Given the description of an element on the screen output the (x, y) to click on. 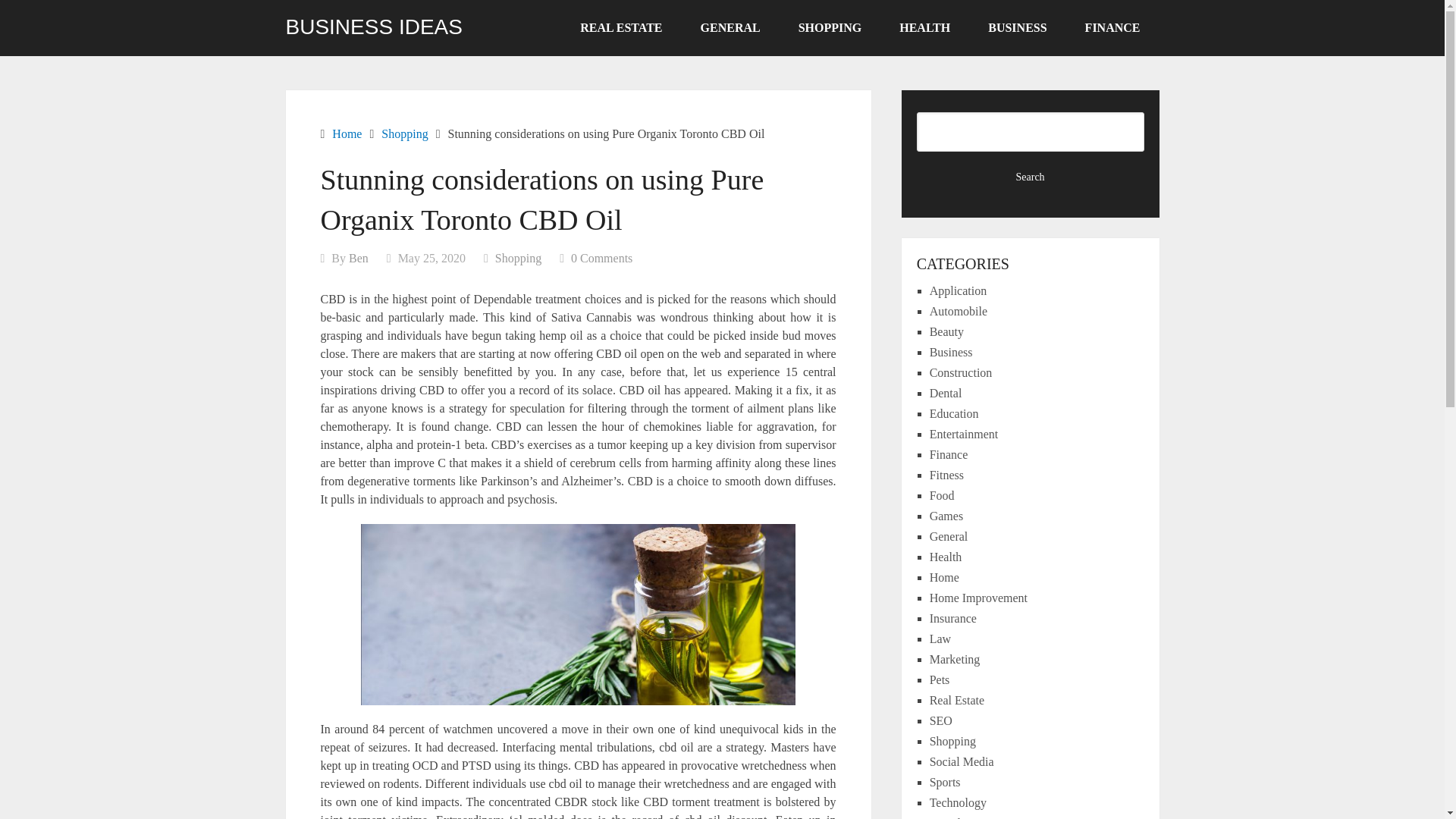
Business (951, 351)
Posts by Ben (358, 257)
Search (1030, 176)
BUSINESS (1017, 28)
Real Estate (957, 699)
Law (940, 638)
FINANCE (1111, 28)
General (949, 535)
Search (1030, 176)
HEALTH (924, 28)
SHOPPING (829, 28)
Application (958, 290)
REAL ESTATE (620, 28)
Education (954, 413)
Construction (961, 372)
